Given the description of an element on the screen output the (x, y) to click on. 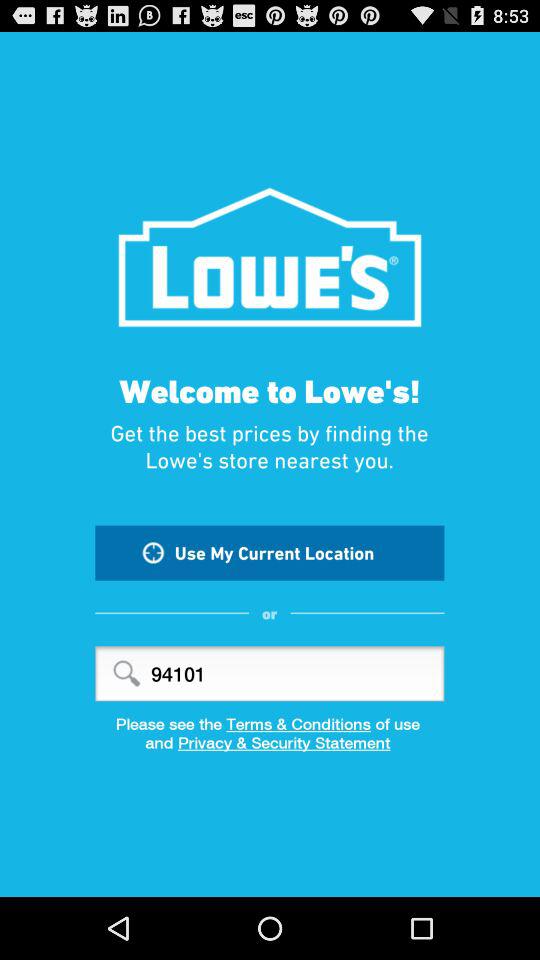
scroll until and privacy security icon (270, 749)
